Given the description of an element on the screen output the (x, y) to click on. 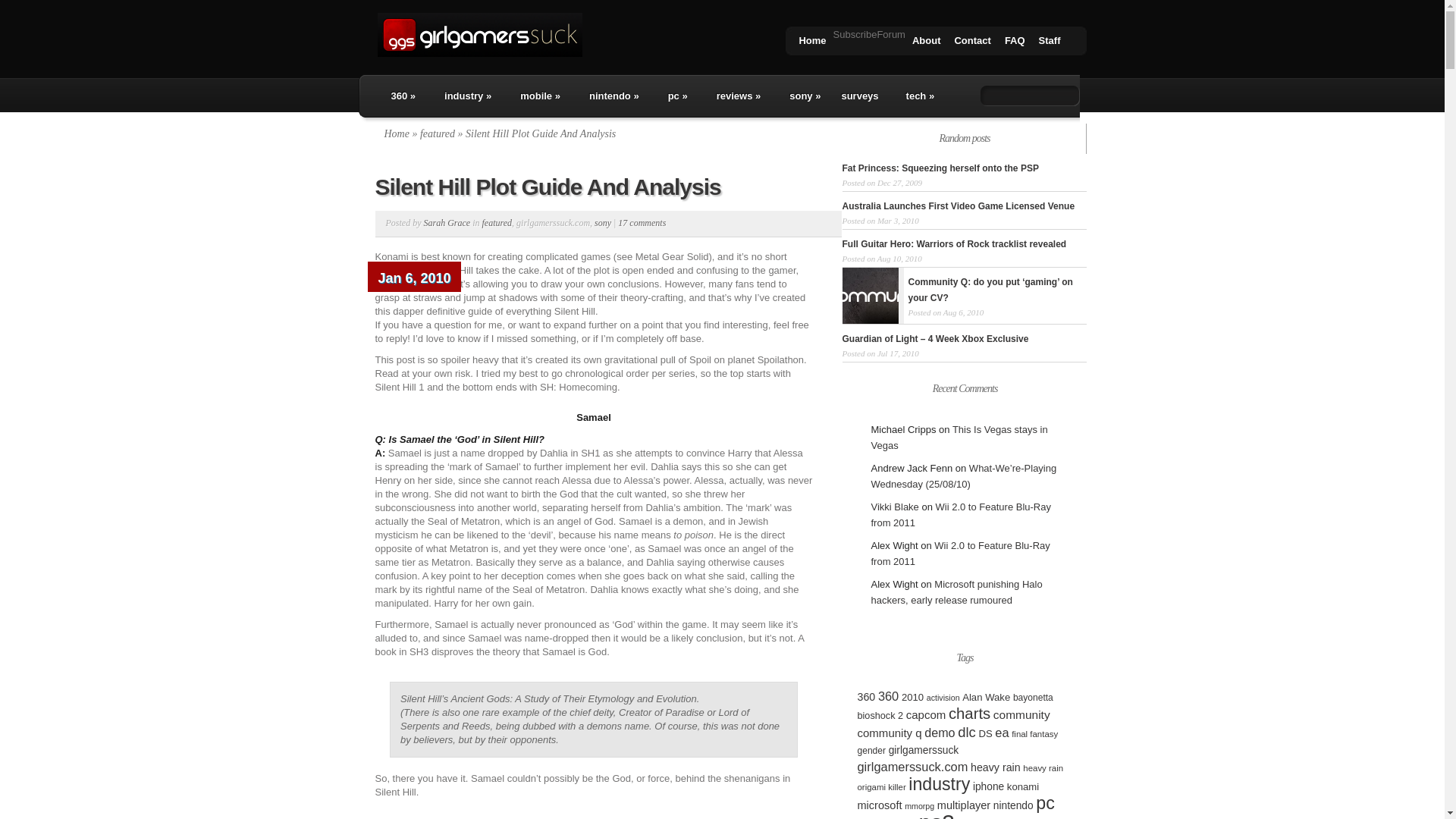
Contact (972, 43)
sony (602, 222)
About (926, 43)
surveys (859, 100)
FAQ (1014, 43)
FAQ (1014, 43)
Home (812, 43)
Staff (1049, 43)
Contact (972, 43)
featured (496, 222)
Sarah Grace (446, 222)
View all posts filed under 360 (399, 100)
featured (437, 133)
17 comments (641, 222)
Staff (1049, 43)
